Given the description of an element on the screen output the (x, y) to click on. 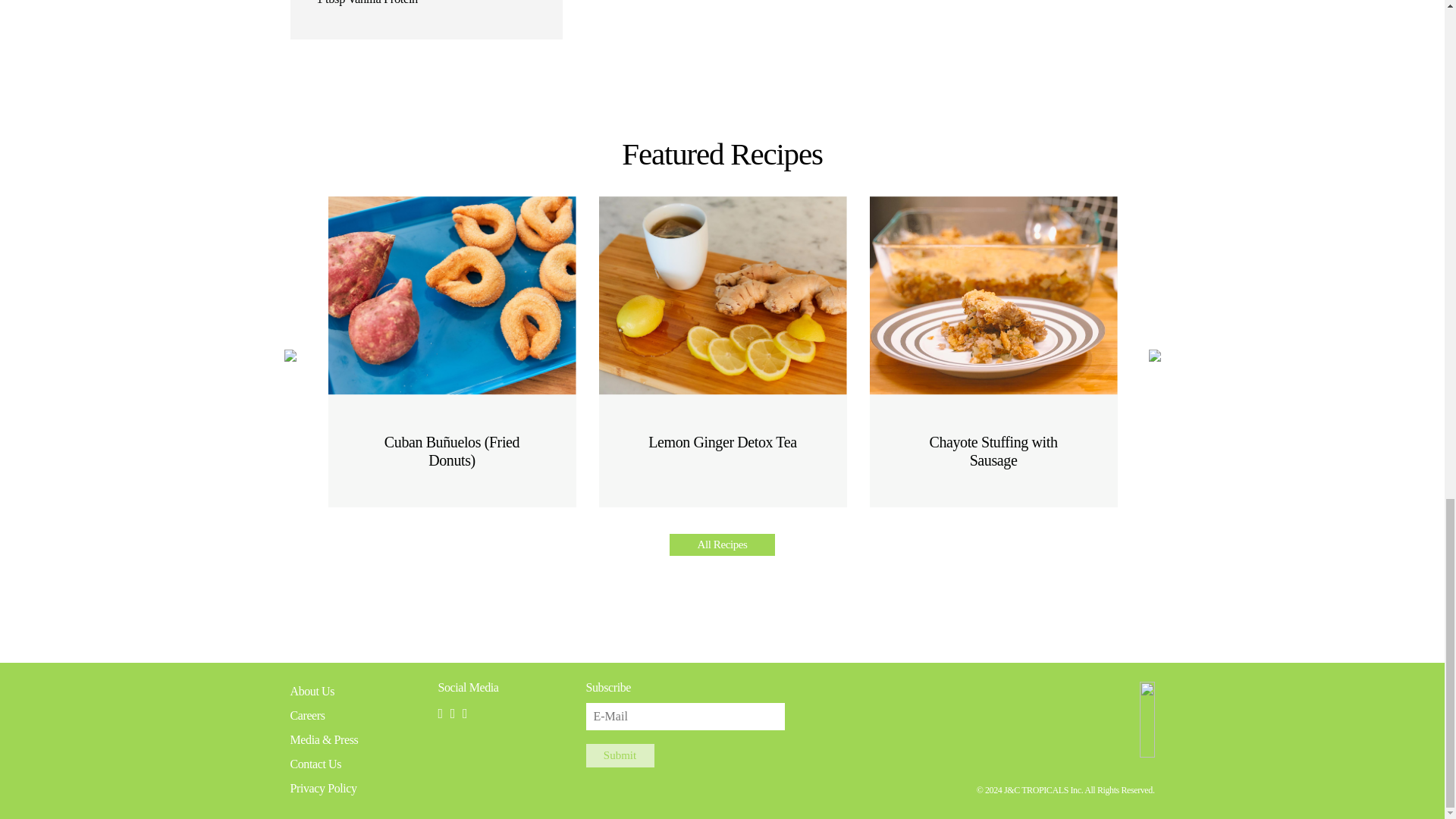
All Recipes (721, 544)
Careers (306, 715)
Chayote Stuffing with Sausage (992, 332)
Submit (619, 755)
Privacy Policy (322, 788)
Contact Us (314, 763)
Lemon Ginger Detox Tea (722, 323)
About Us (311, 690)
